Given the description of an element on the screen output the (x, y) to click on. 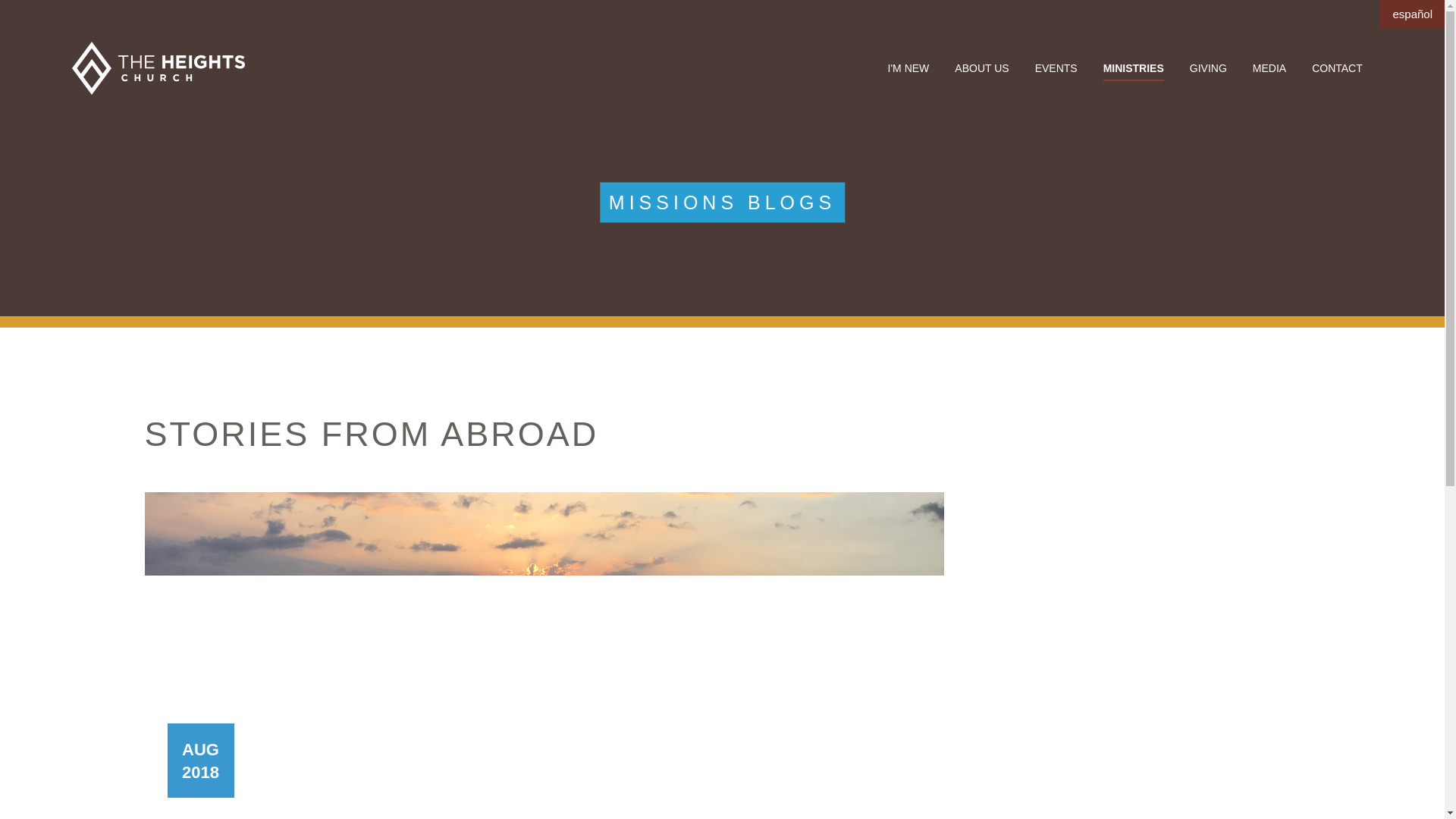
GIVING (1208, 68)
ABOUT US (982, 68)
MINISTRIES (1133, 68)
EVENTS (1056, 68)
MEDIA (1268, 68)
I'M NEW (909, 68)
